Given the description of an element on the screen output the (x, y) to click on. 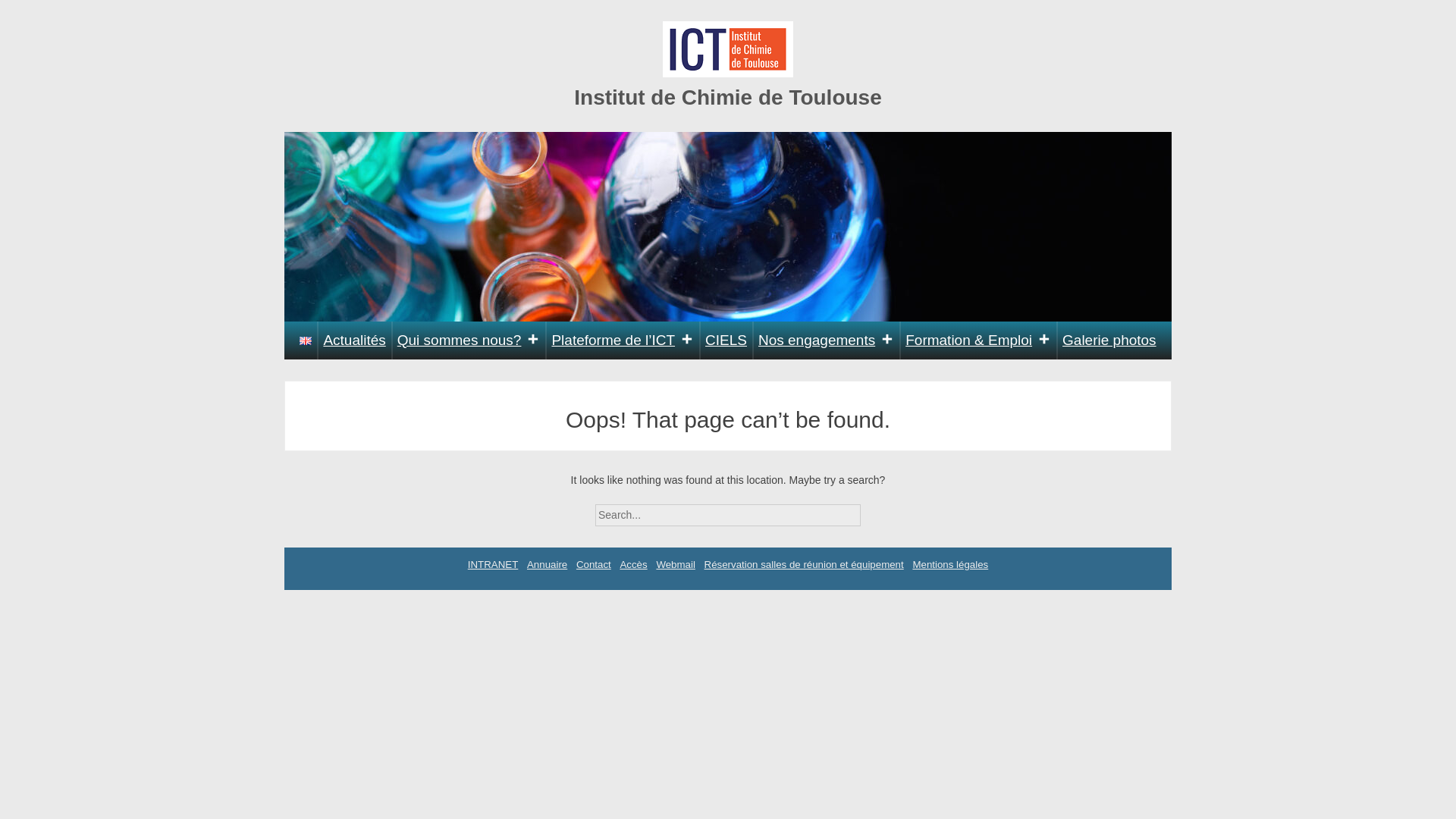
CIELS (726, 340)
Search (873, 509)
Nos engagements (825, 340)
Qui sommes nous? (468, 340)
Search (873, 509)
Institut de Chimie de Toulouse (727, 97)
